Given the description of an element on the screen output the (x, y) to click on. 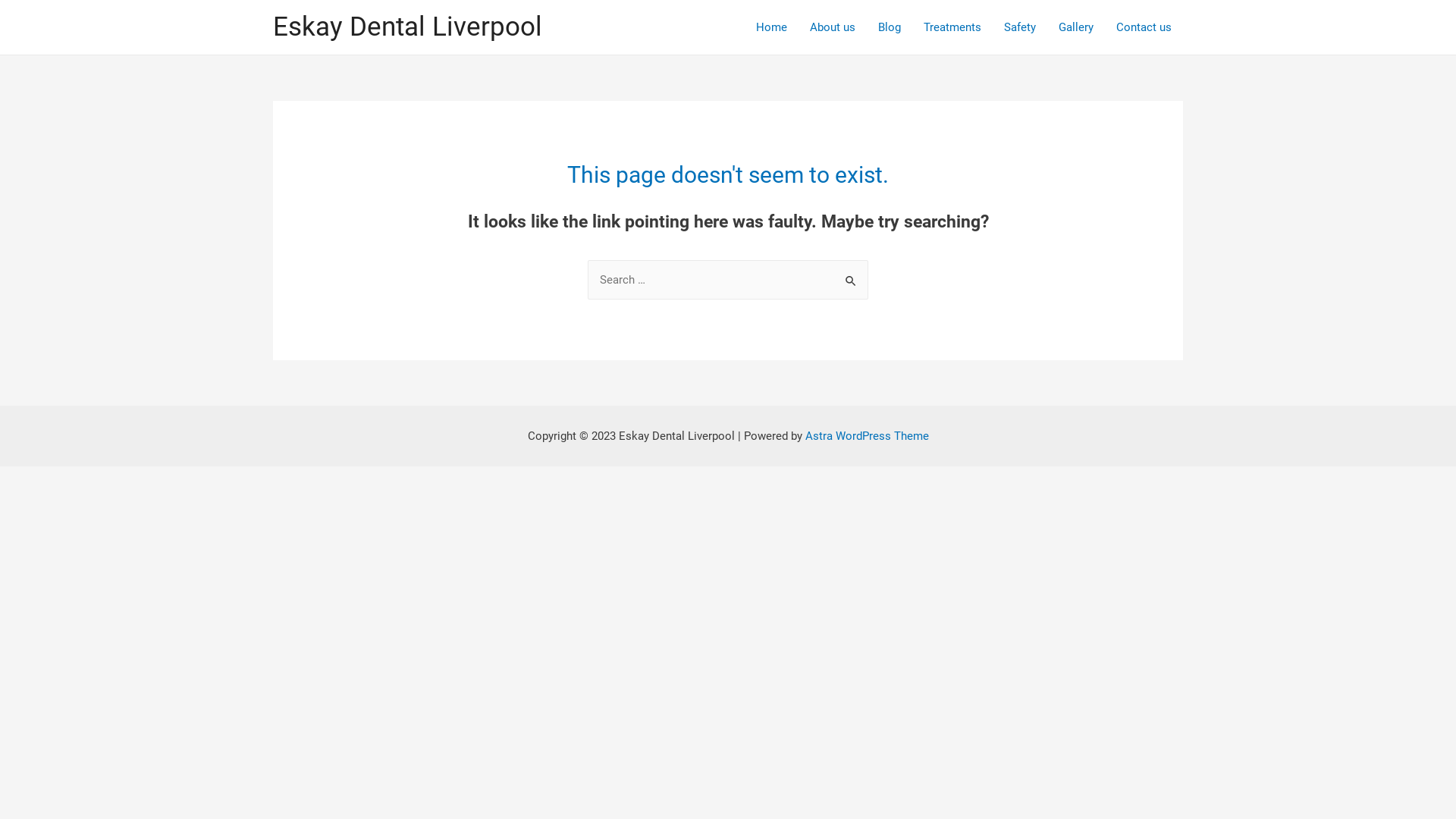
Blog Element type: text (889, 26)
Search Element type: text (851, 275)
Safety Element type: text (1019, 26)
Contact us Element type: text (1143, 26)
Home Element type: text (771, 26)
Gallery Element type: text (1075, 26)
Treatments Element type: text (952, 26)
About us Element type: text (832, 26)
Eskay Dental Liverpool Element type: text (407, 26)
Astra WordPress Theme Element type: text (866, 435)
